Given the description of an element on the screen output the (x, y) to click on. 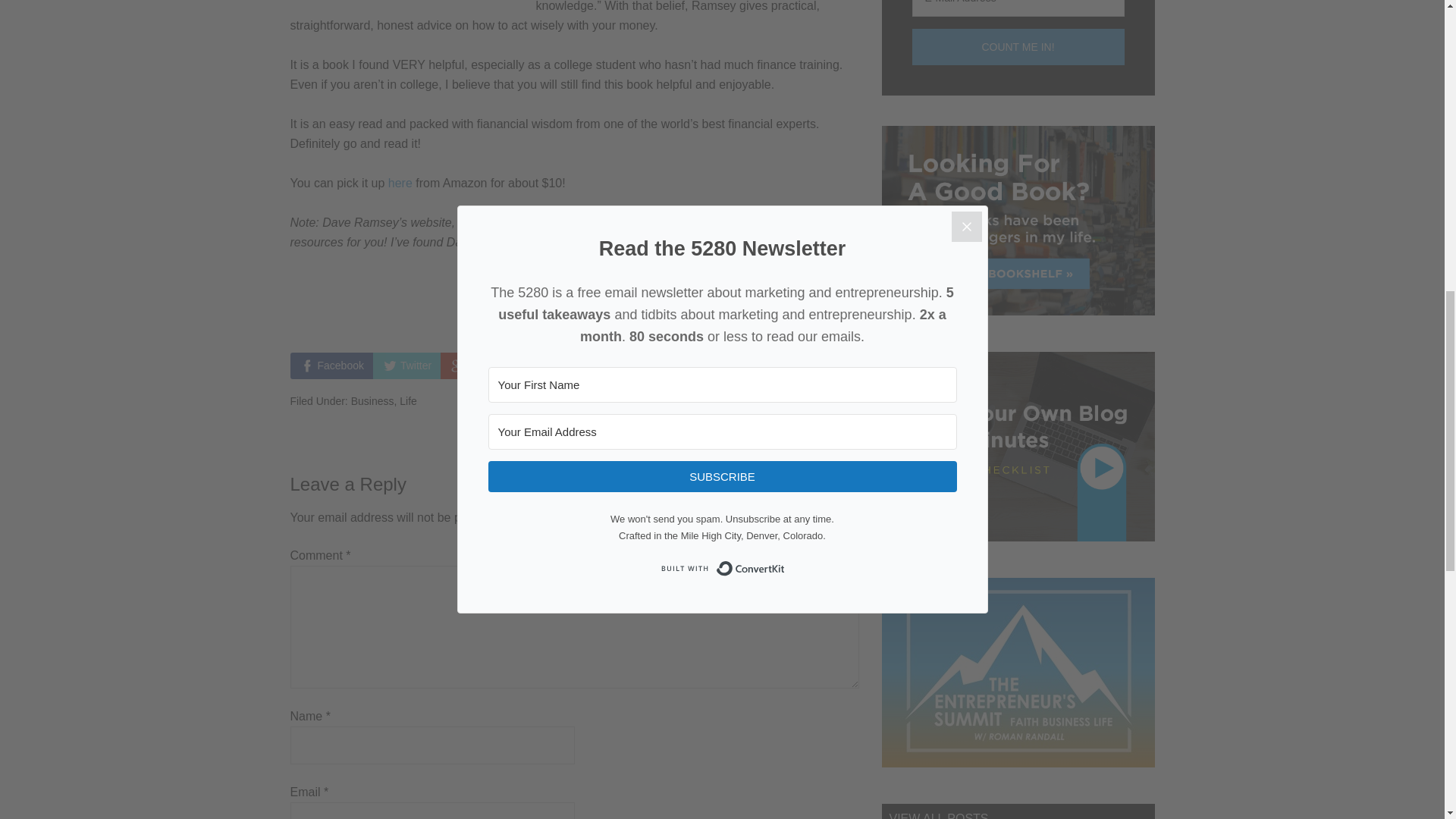
Count Me In! (1017, 46)
